Given the description of an element on the screen output the (x, y) to click on. 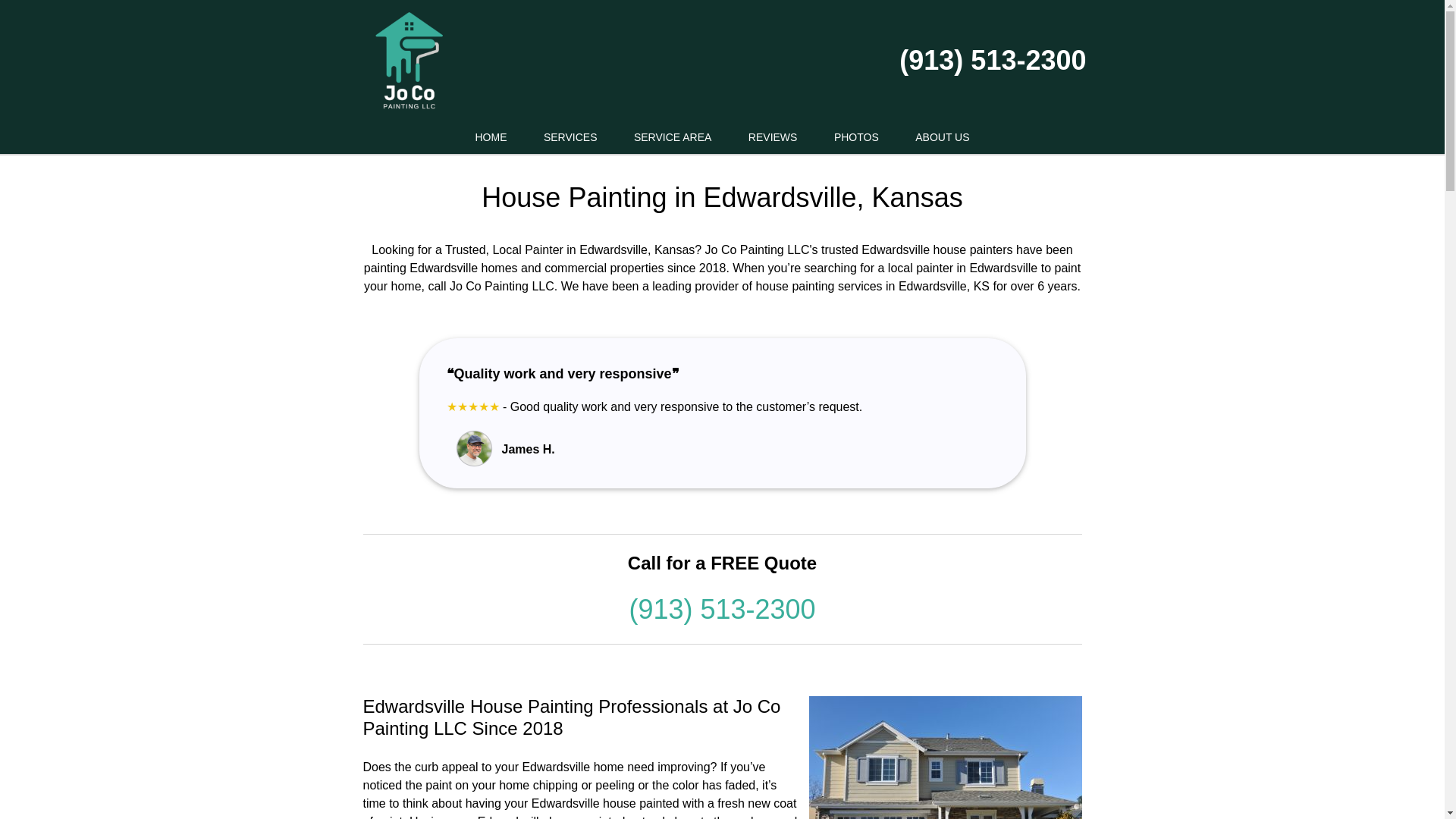
SERVICE AREA (672, 137)
PHOTOS (855, 137)
HOME (490, 137)
REVIEWS (772, 137)
ABOUT US (941, 137)
SERVICES (570, 137)
